Given the description of an element on the screen output the (x, y) to click on. 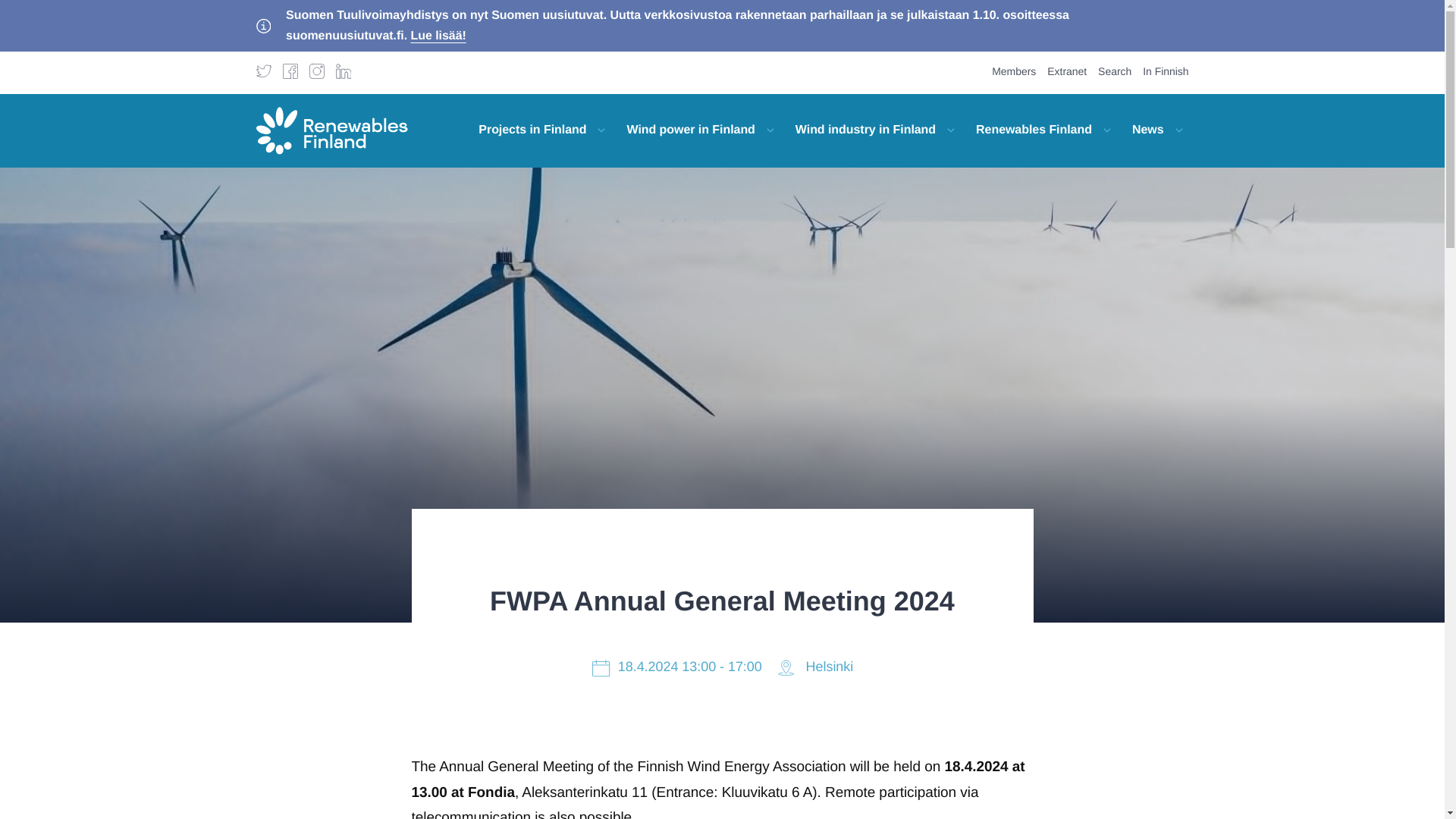
Projects in Finland (529, 129)
In Finnish (1165, 70)
Suomen Tuulivoimayhdistys (331, 130)
Wind power in Finland (688, 129)
Members (1013, 70)
Extranet (1066, 70)
Search (1114, 70)
